Given the description of an element on the screen output the (x, y) to click on. 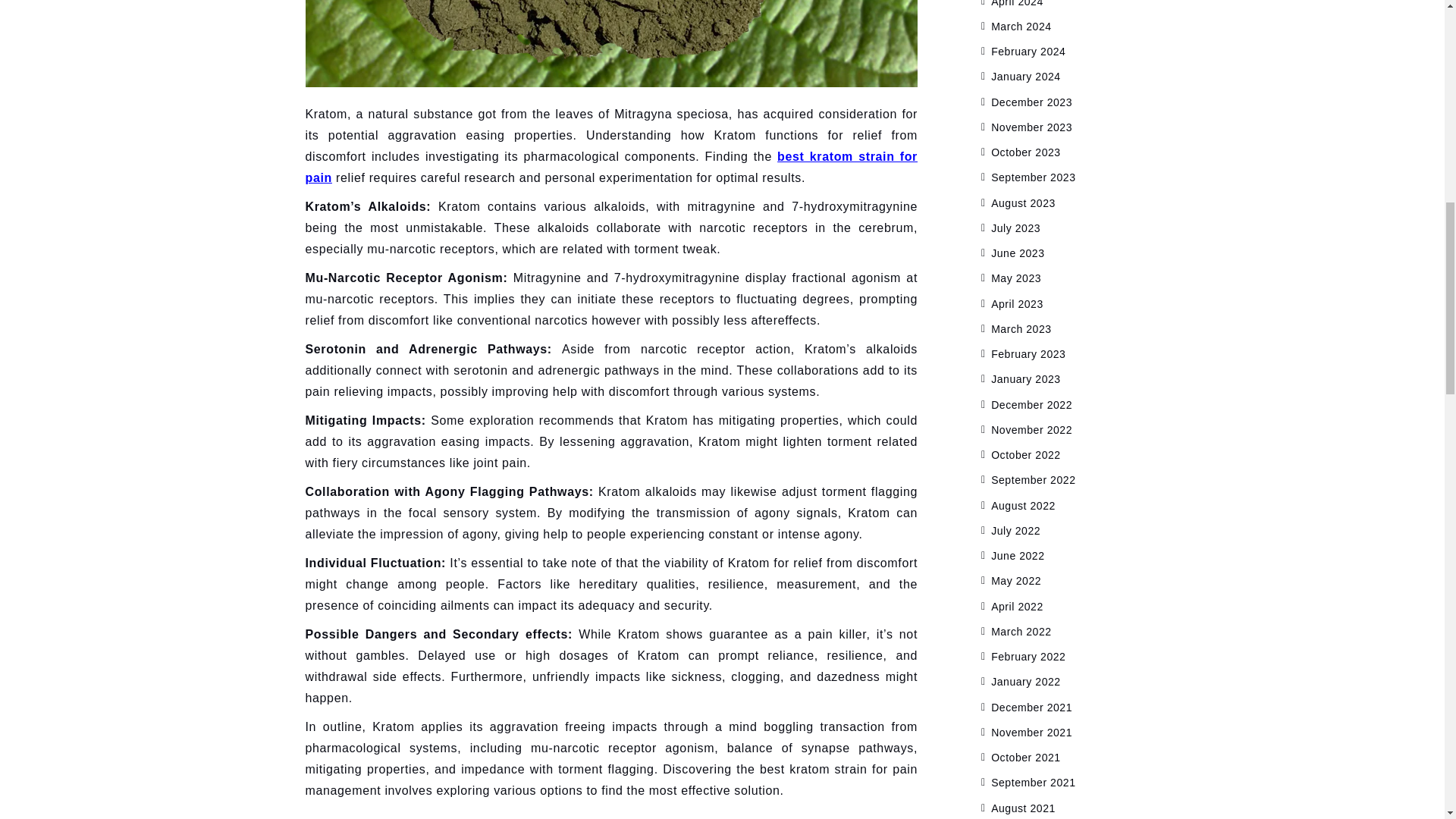
April 2024 (1017, 3)
September 2023 (1033, 177)
March 2023 (1021, 328)
July 2023 (1016, 227)
May 2023 (1016, 277)
February 2024 (1028, 51)
April 2023 (1017, 303)
January 2024 (1026, 76)
December 2023 (1031, 101)
October 2023 (1026, 152)
